Given the description of an element on the screen output the (x, y) to click on. 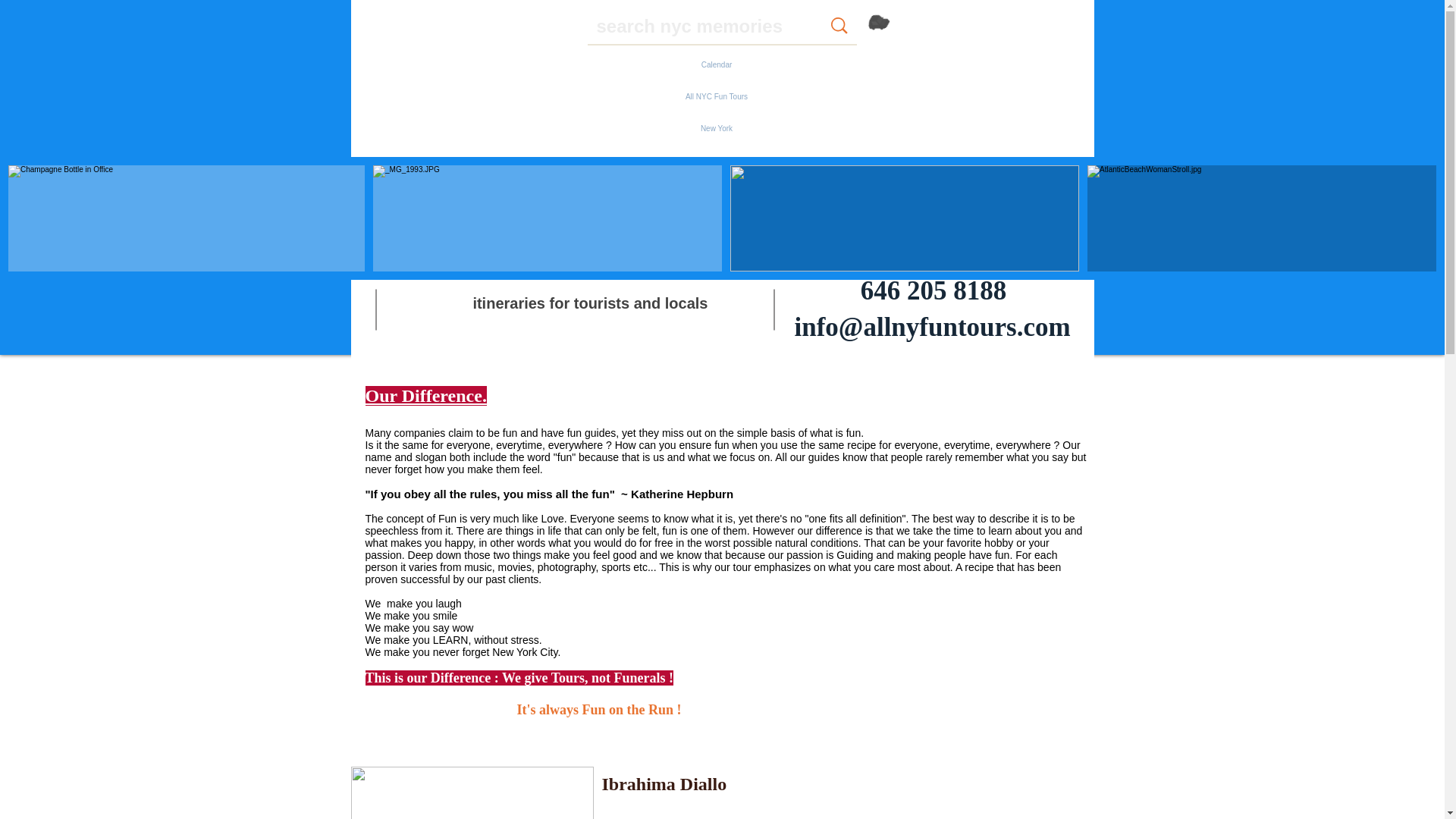
Calendar (716, 65)
All NYC Fun Tours (716, 97)
New York (716, 128)
